Given the description of an element on the screen output the (x, y) to click on. 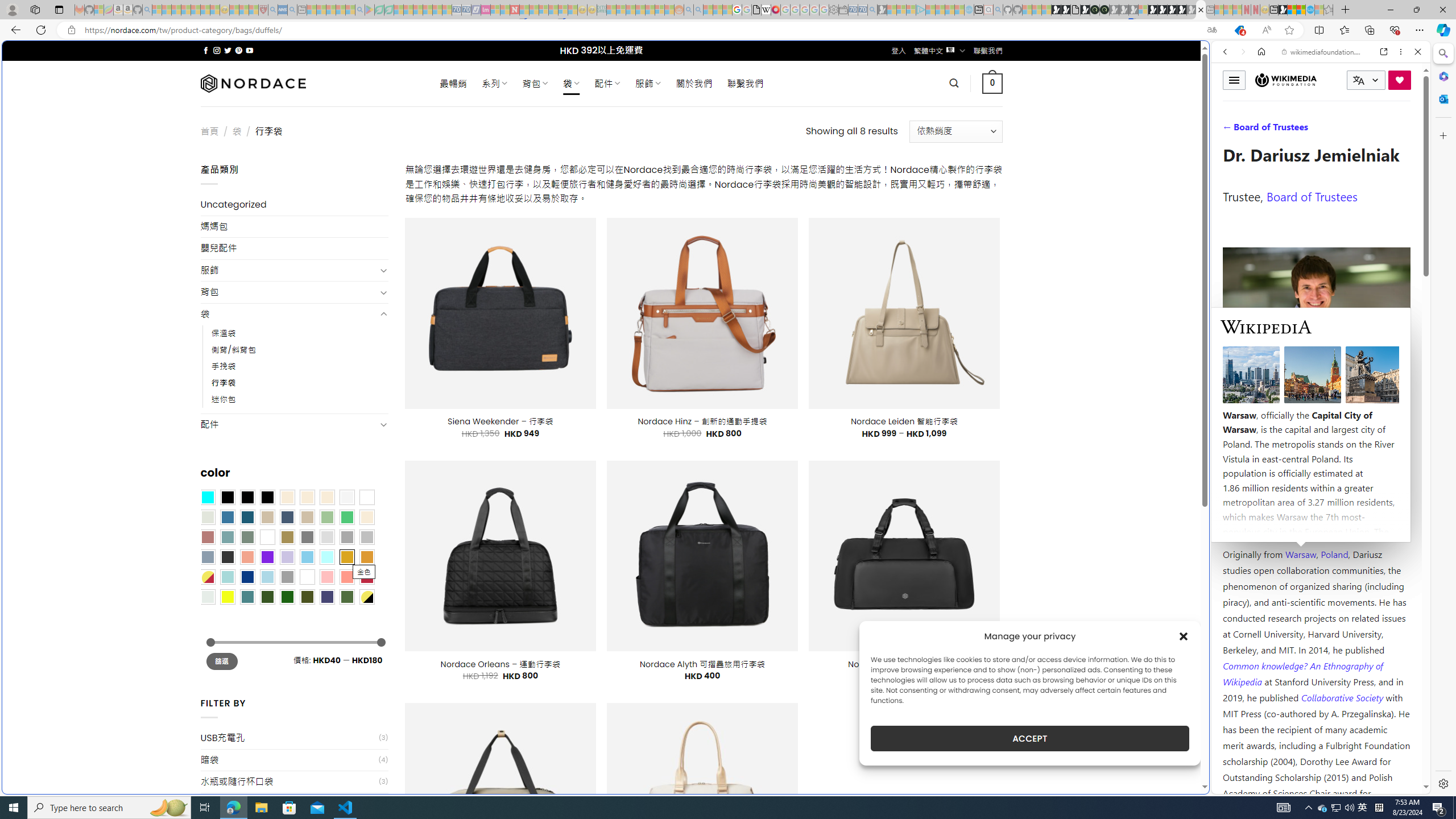
Class: cmplz-close (1183, 636)
Class: b_serphb (1404, 130)
Favorites - Sleeping (1328, 9)
